Given the description of an element on the screen output the (x, y) to click on. 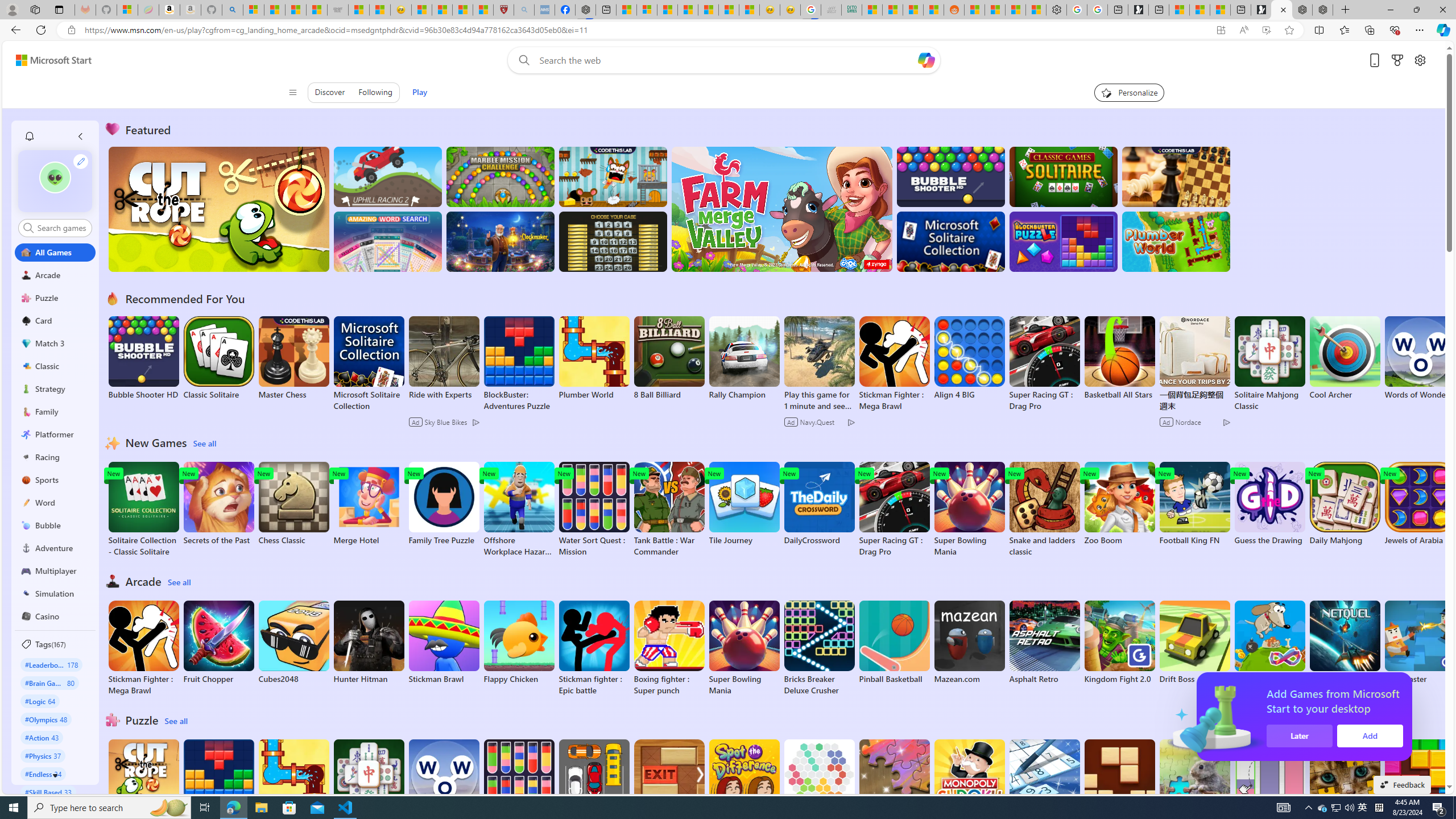
MSNBC - MSN (871, 9)
Hungry Dog FRVR (1269, 642)
See all (176, 720)
Web search (520, 60)
Pinball Basketball (894, 642)
DailyCrossword (818, 503)
Ad (1166, 421)
Feedback (1402, 784)
#Endless 34 (43, 773)
Amazing Word Search (387, 241)
